Given the description of an element on the screen output the (x, y) to click on. 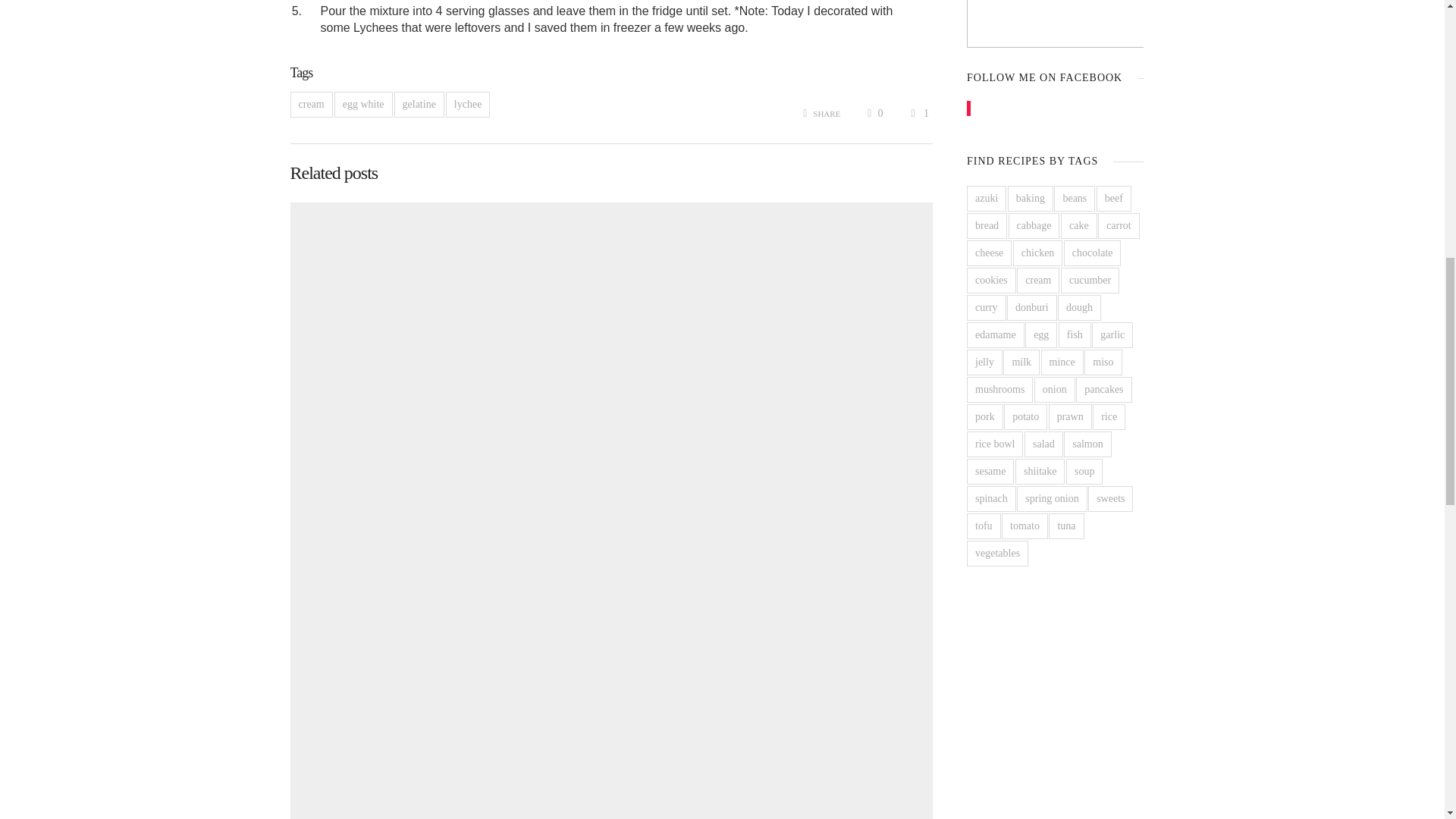
 1 (918, 112)
0 (874, 112)
lychee (467, 104)
cream (310, 104)
gelatine (419, 104)
Like (918, 112)
egg white (363, 104)
